Given the description of an element on the screen output the (x, y) to click on. 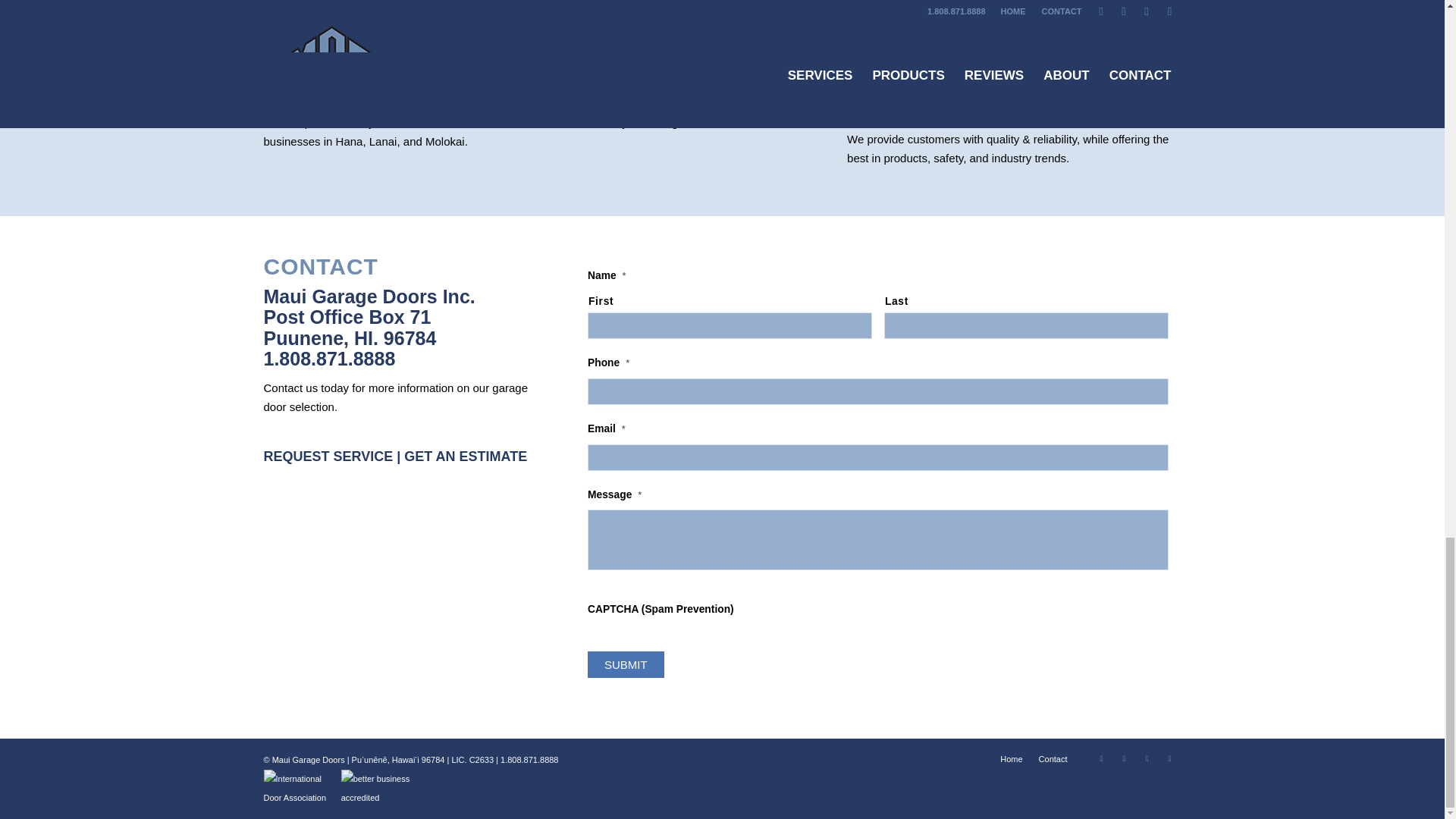
Instagram (1101, 757)
1.808.871.8888 (528, 759)
GET AN ESTIMATE (465, 456)
REQUEST SERVICE (328, 456)
SUBMIT (625, 664)
Twitter (1124, 757)
1.808.871.8888 (329, 358)
showroom (563, 103)
SUBMIT (625, 664)
